Given the description of an element on the screen output the (x, y) to click on. 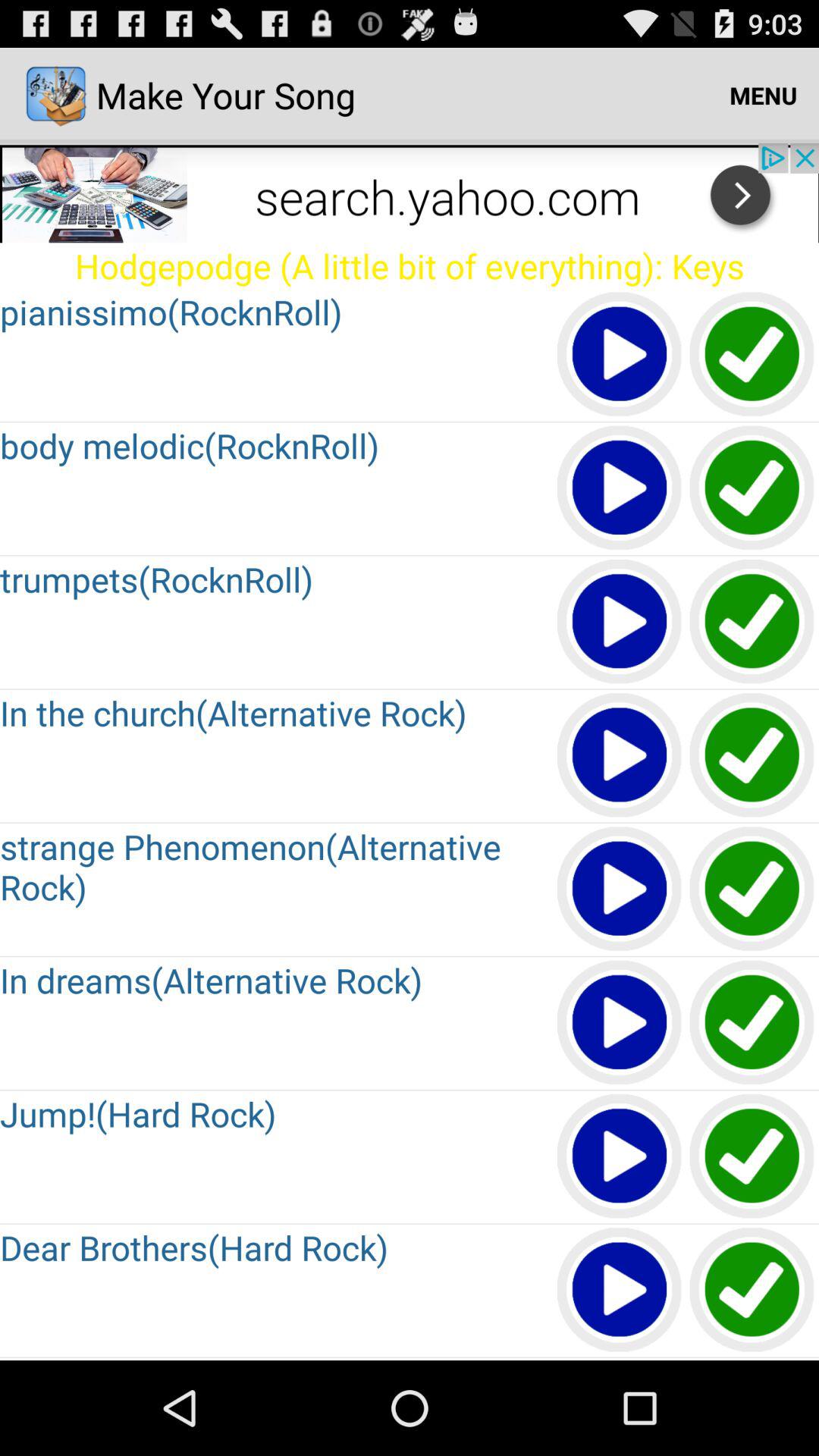
select the play option (619, 354)
